Given the description of an element on the screen output the (x, y) to click on. 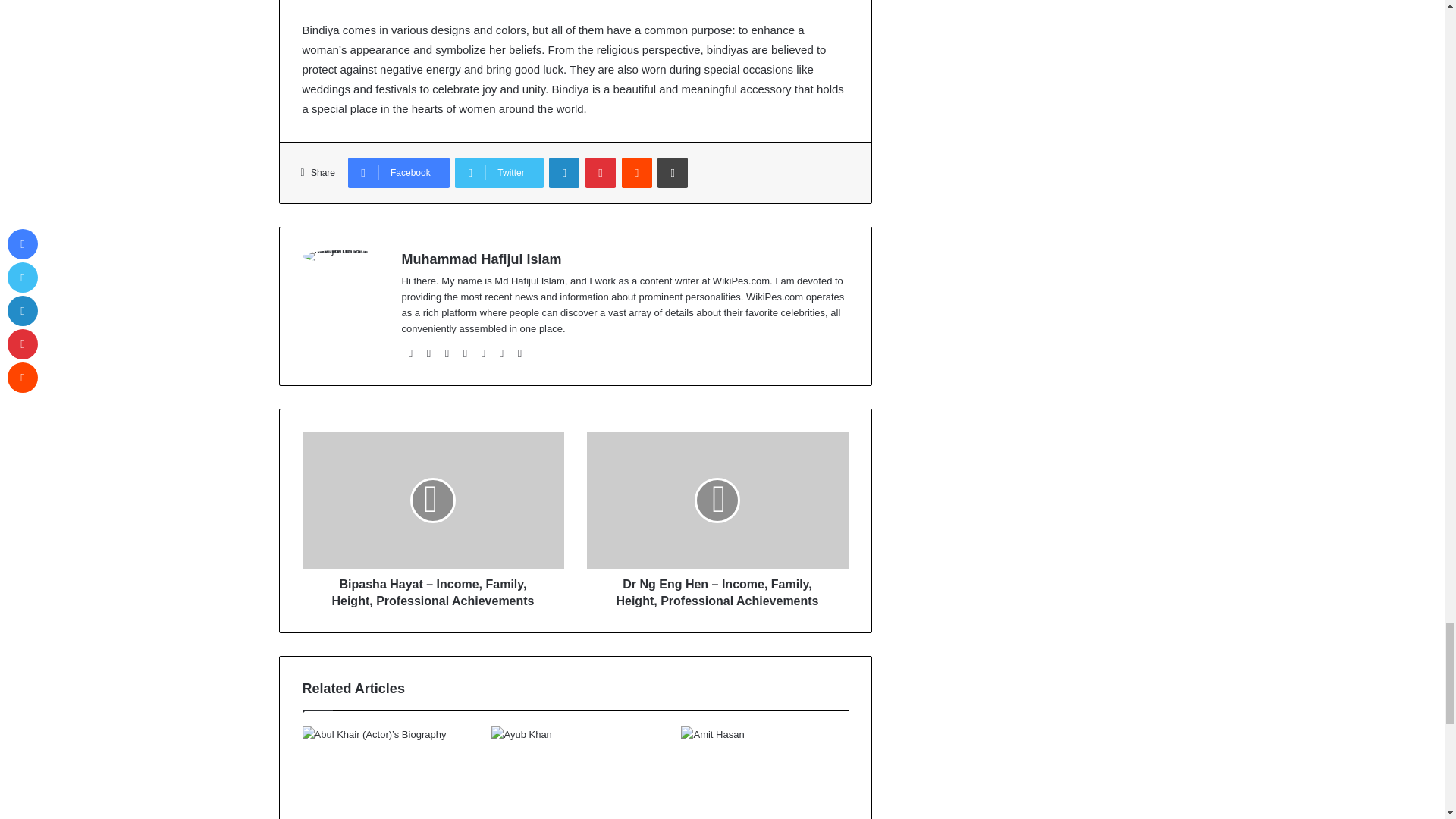
Reddit (636, 173)
Facebook (398, 173)
Pinterest (600, 173)
Twitter (498, 173)
LinkedIn (563, 173)
